Given the description of an element on the screen output the (x, y) to click on. 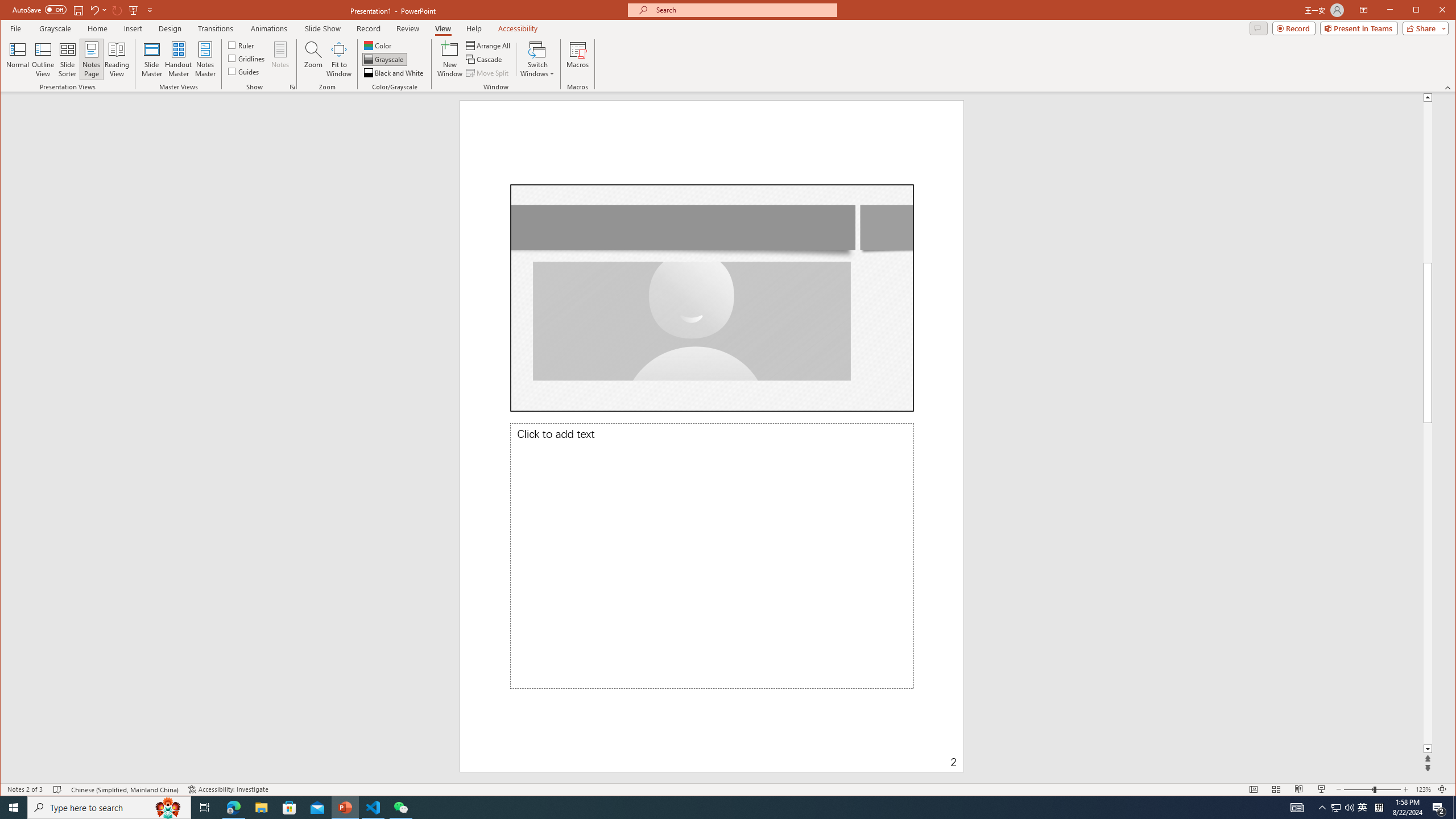
Macros (576, 59)
